Given the description of an element on the screen output the (x, y) to click on. 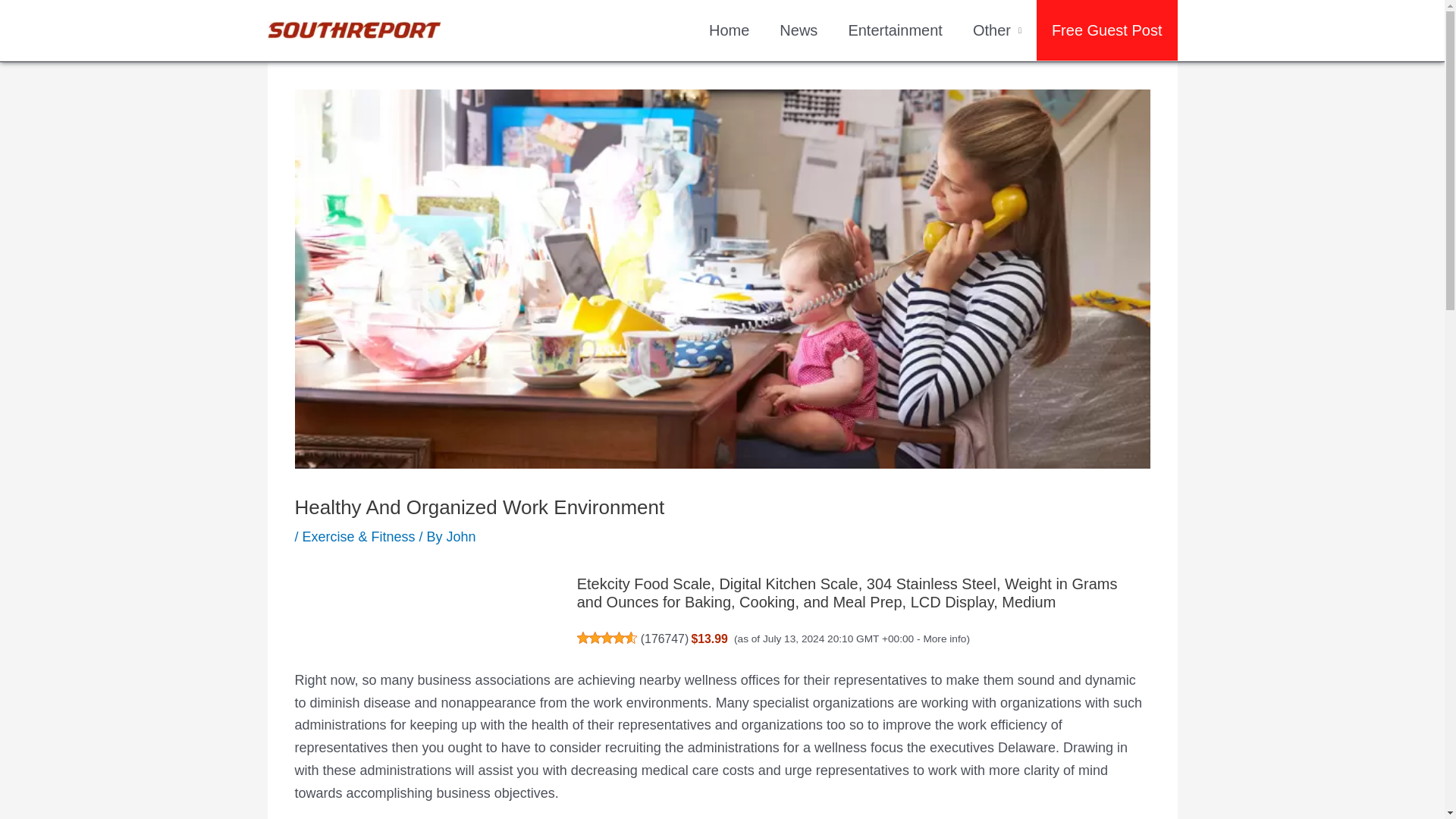
John (461, 536)
Home (729, 30)
Other (997, 30)
Free Guest Post (1106, 30)
Entertainment (895, 30)
View all posts by John (461, 536)
176747 (664, 638)
News (798, 30)
More info (944, 638)
